Given the description of an element on the screen output the (x, y) to click on. 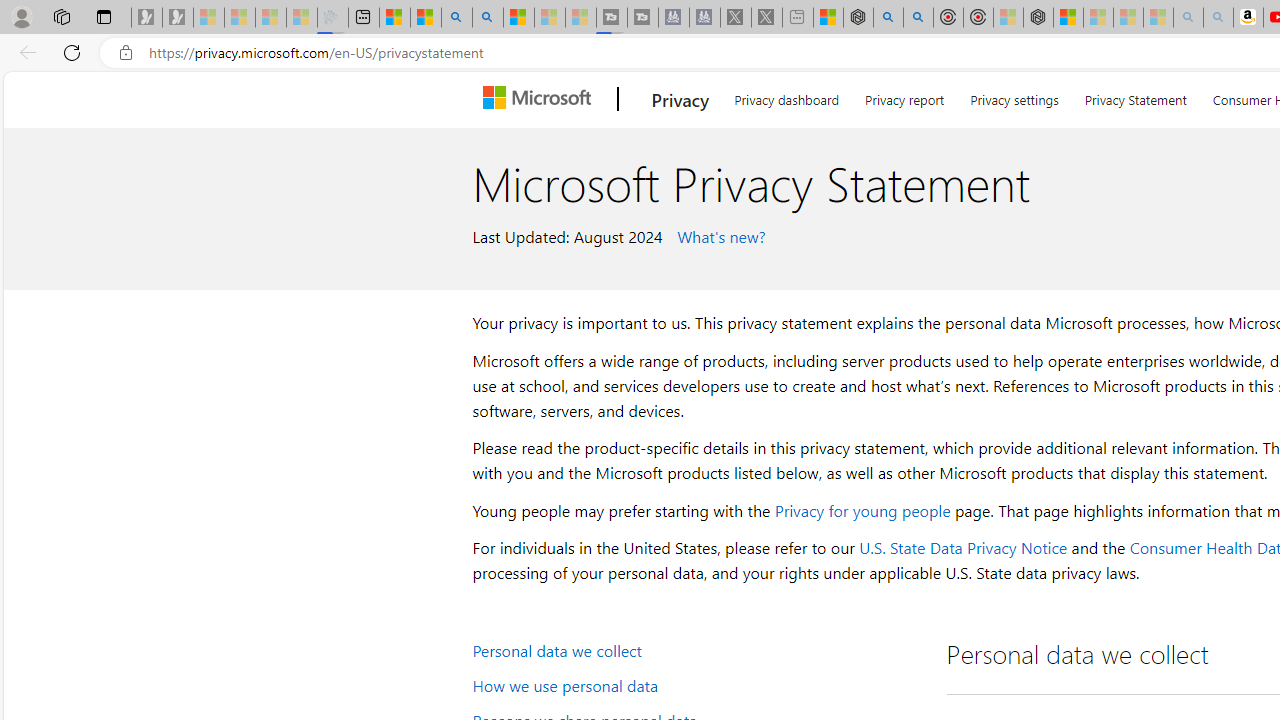
poe ++ standard - Search (918, 17)
Microsoft (541, 99)
